Given the description of an element on the screen output the (x, y) to click on. 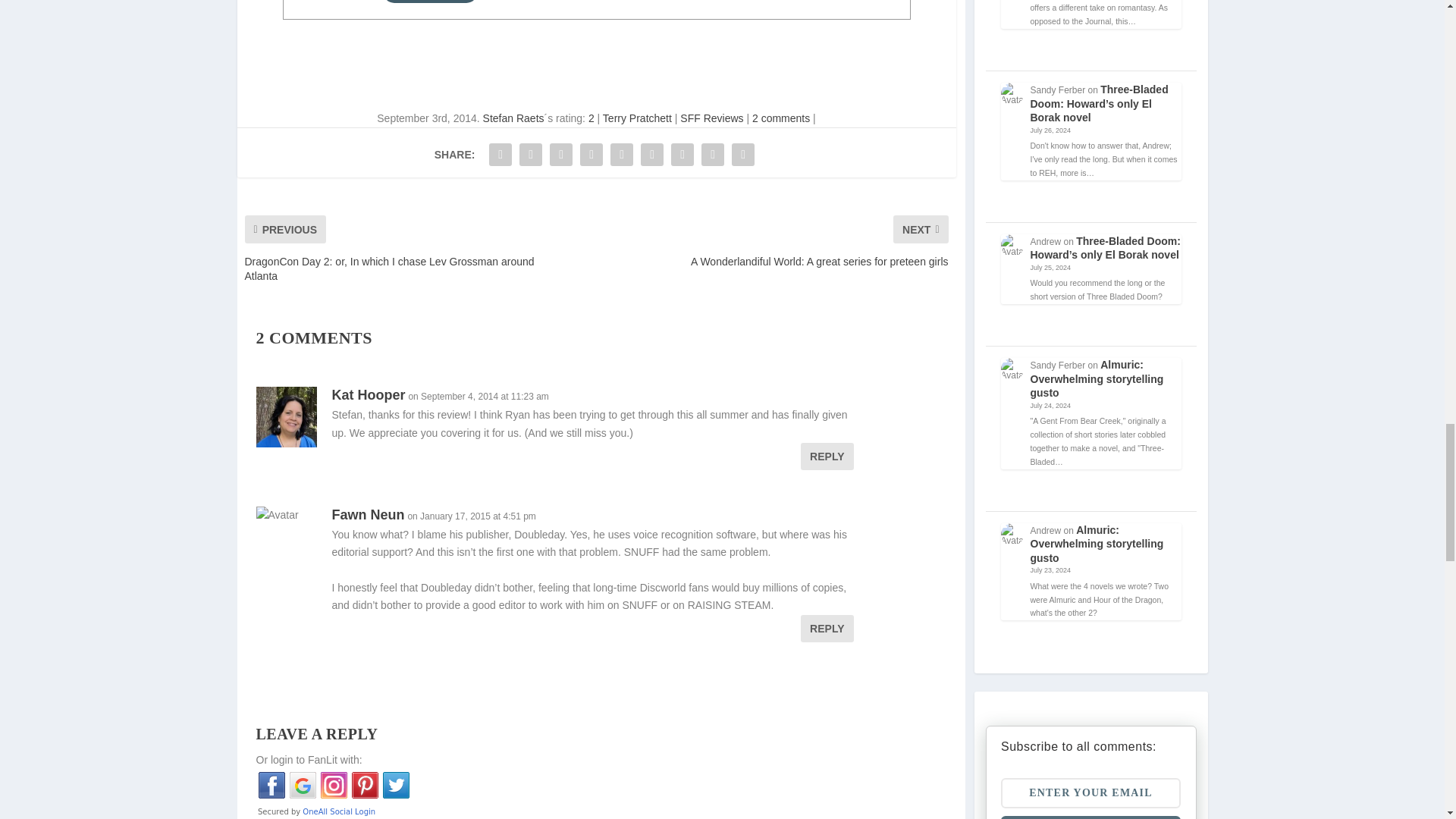
View all posts (429, 1)
Posts by Stefan Raets (513, 118)
